Given the description of an element on the screen output the (x, y) to click on. 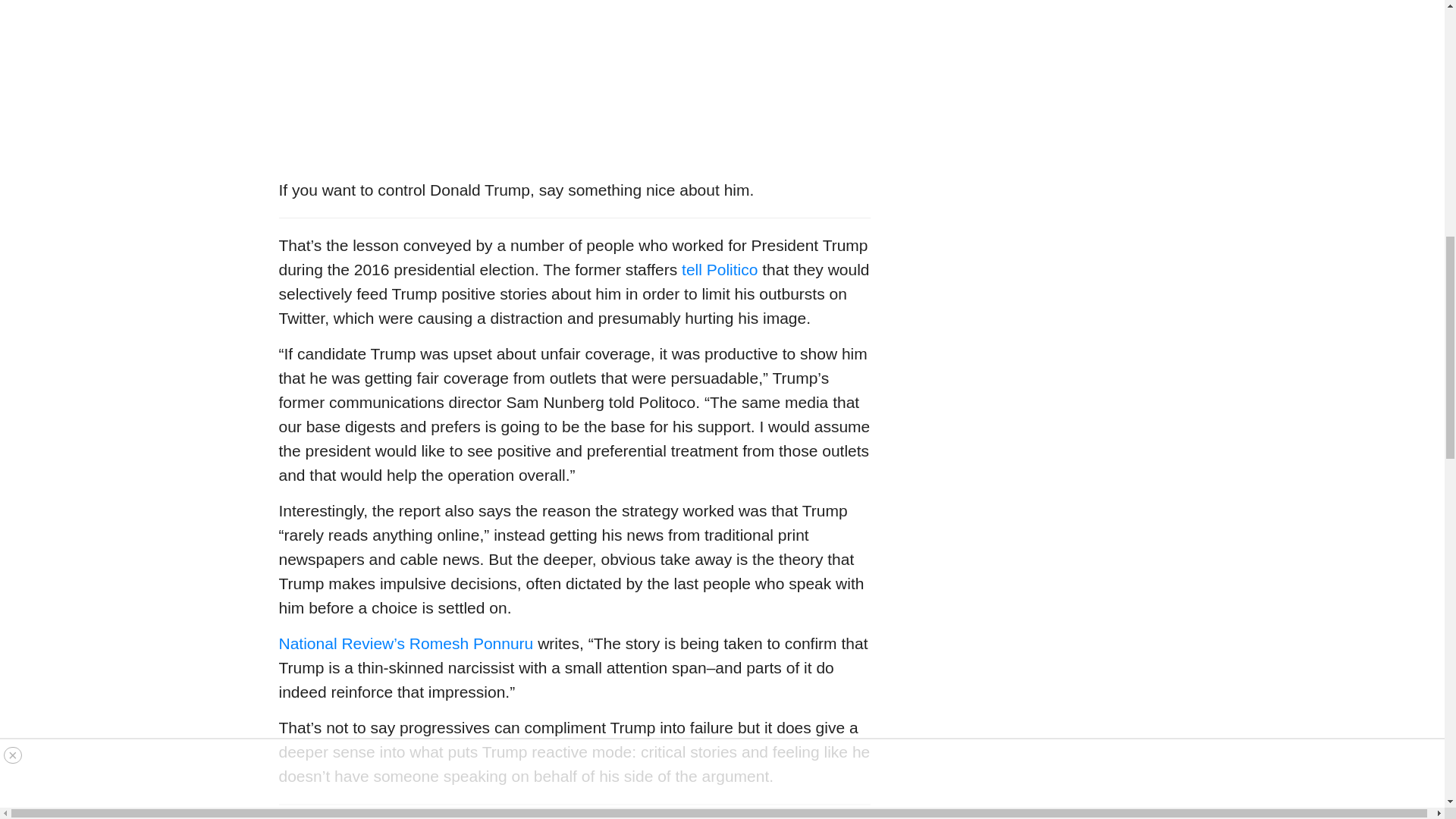
tell Politico (719, 269)
